Given the description of an element on the screen output the (x, y) to click on. 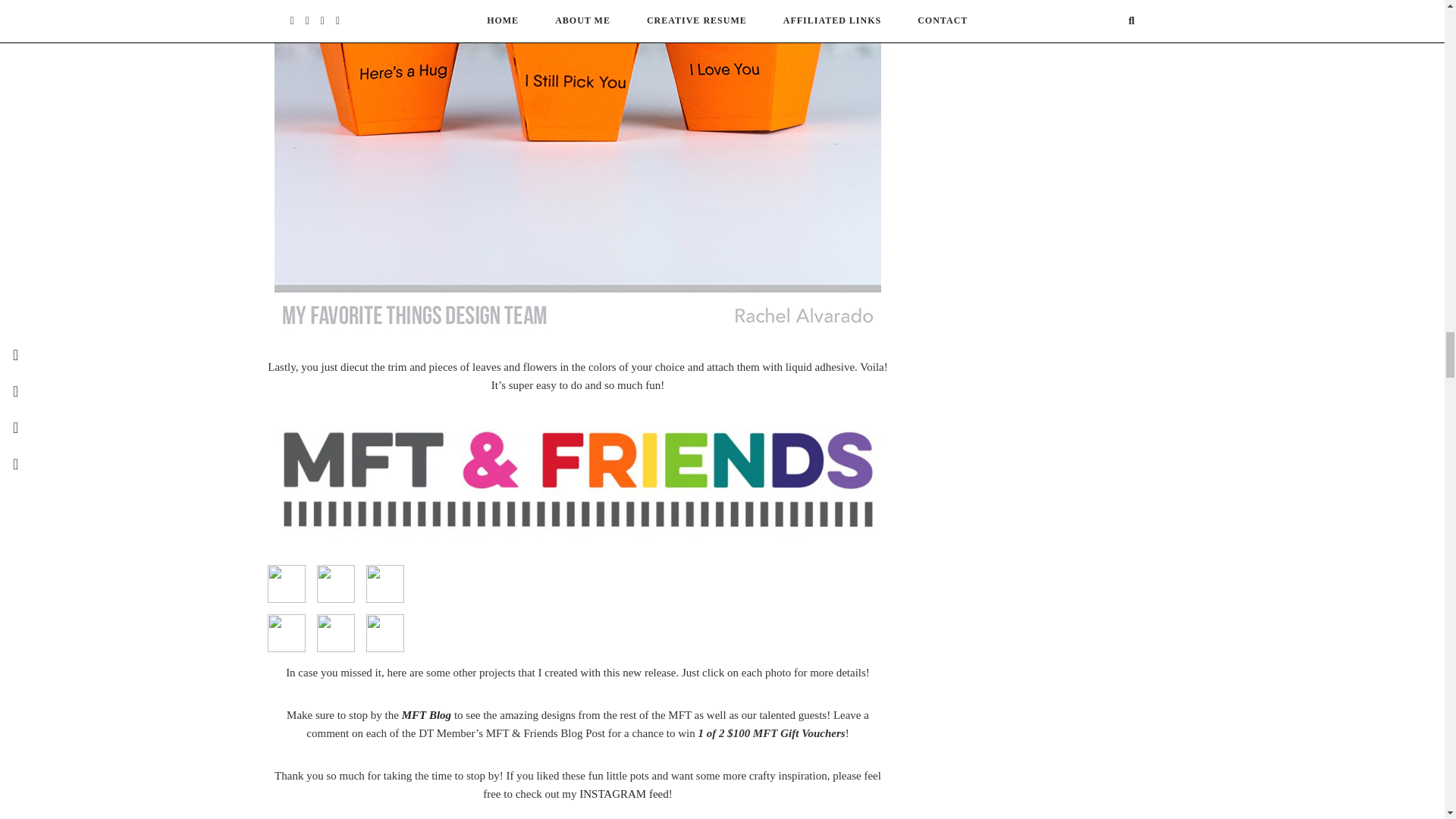
MFT Blog (426, 715)
INSTAGRAM feed (623, 793)
March CD Day 3 (336, 632)
March CD Day 4 (285, 583)
March CD Day 2.1 (384, 583)
March CD Day 1 (336, 583)
Mar CD Day 4 (285, 632)
